Given the description of an element on the screen output the (x, y) to click on. 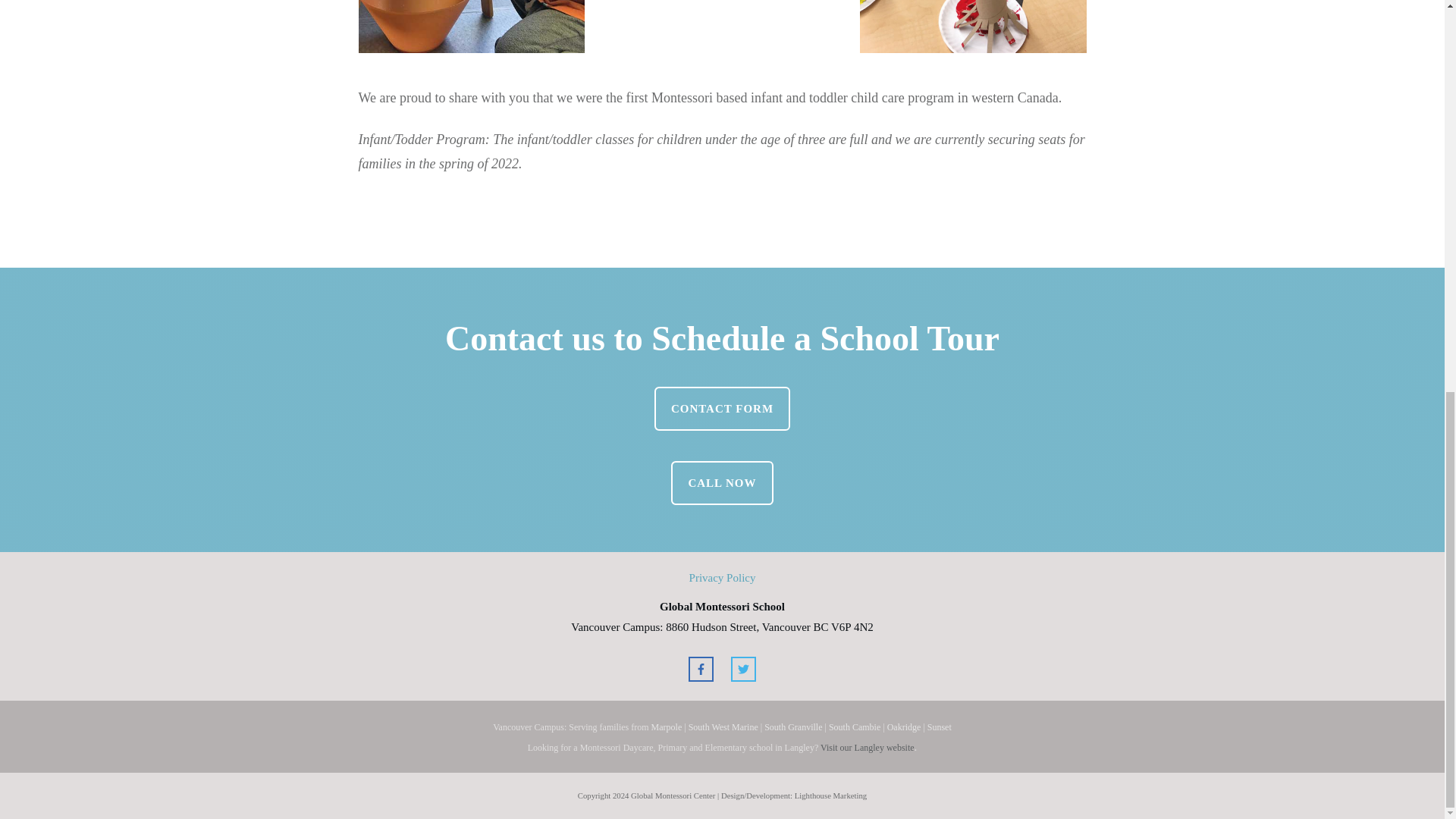
Visit our Langley website (867, 746)
Sunset (939, 726)
South Granville (793, 726)
South West Marine (723, 726)
CALL NOW (722, 483)
Oakridge (903, 726)
South Cambie (854, 726)
CONTACT FORM (721, 408)
Privacy Policy (721, 577)
Lighthouse Marketing (830, 795)
Marpole (666, 726)
